Given the description of an element on the screen output the (x, y) to click on. 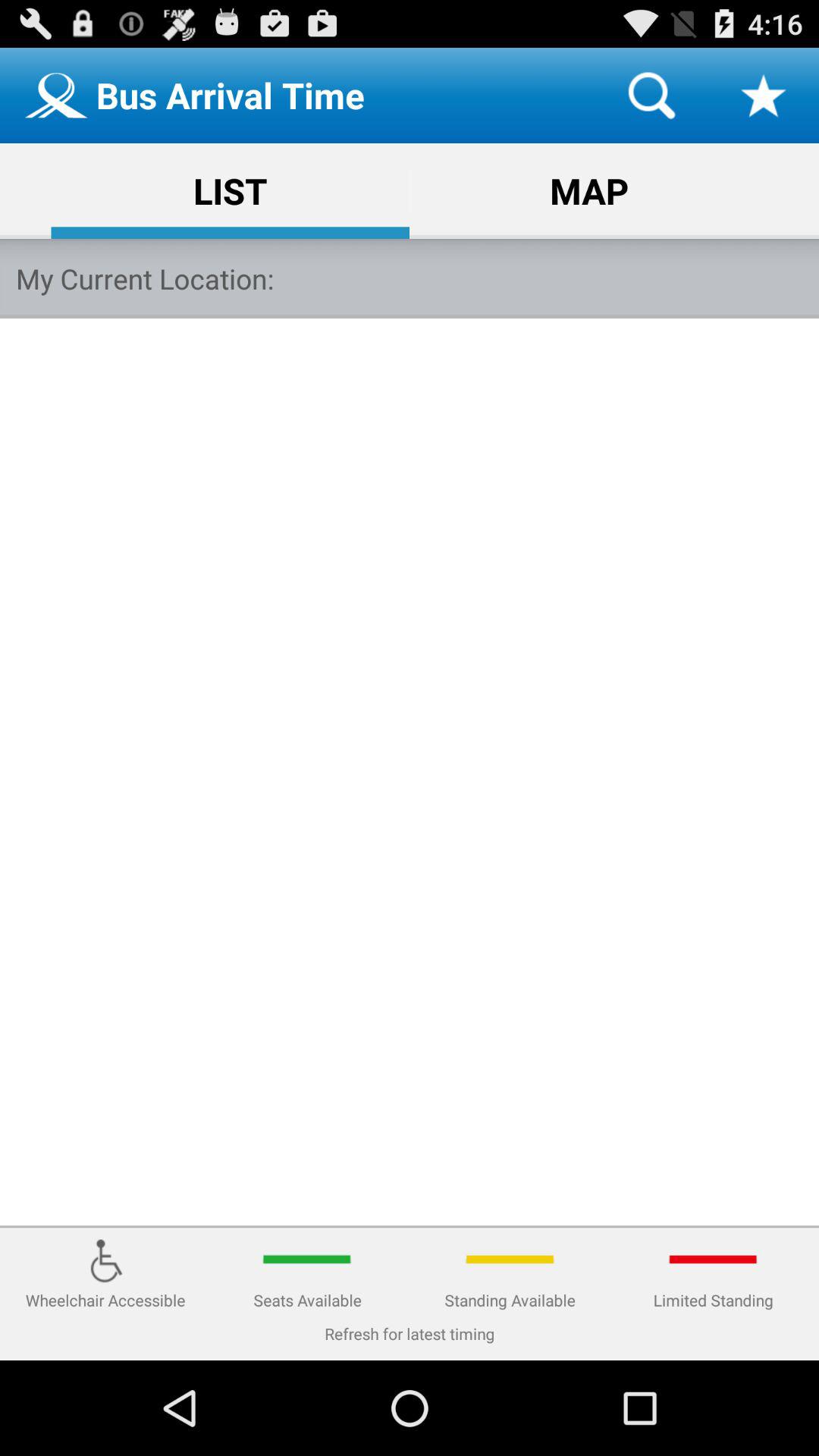
turn off item next to bus arrival time app (651, 95)
